Given the description of an element on the screen output the (x, y) to click on. 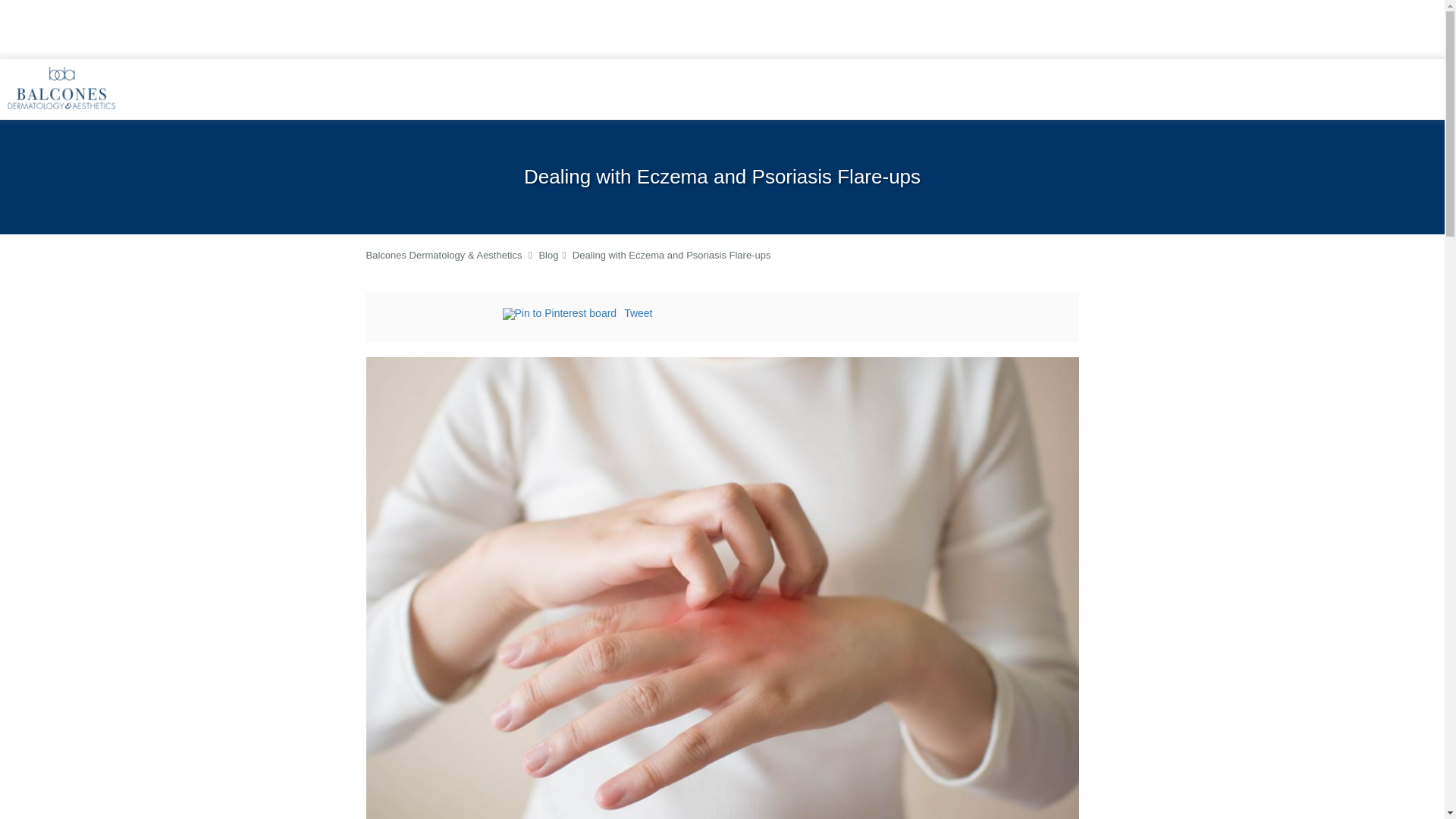
Facebook social button (441, 315)
